Given the description of an element on the screen output the (x, y) to click on. 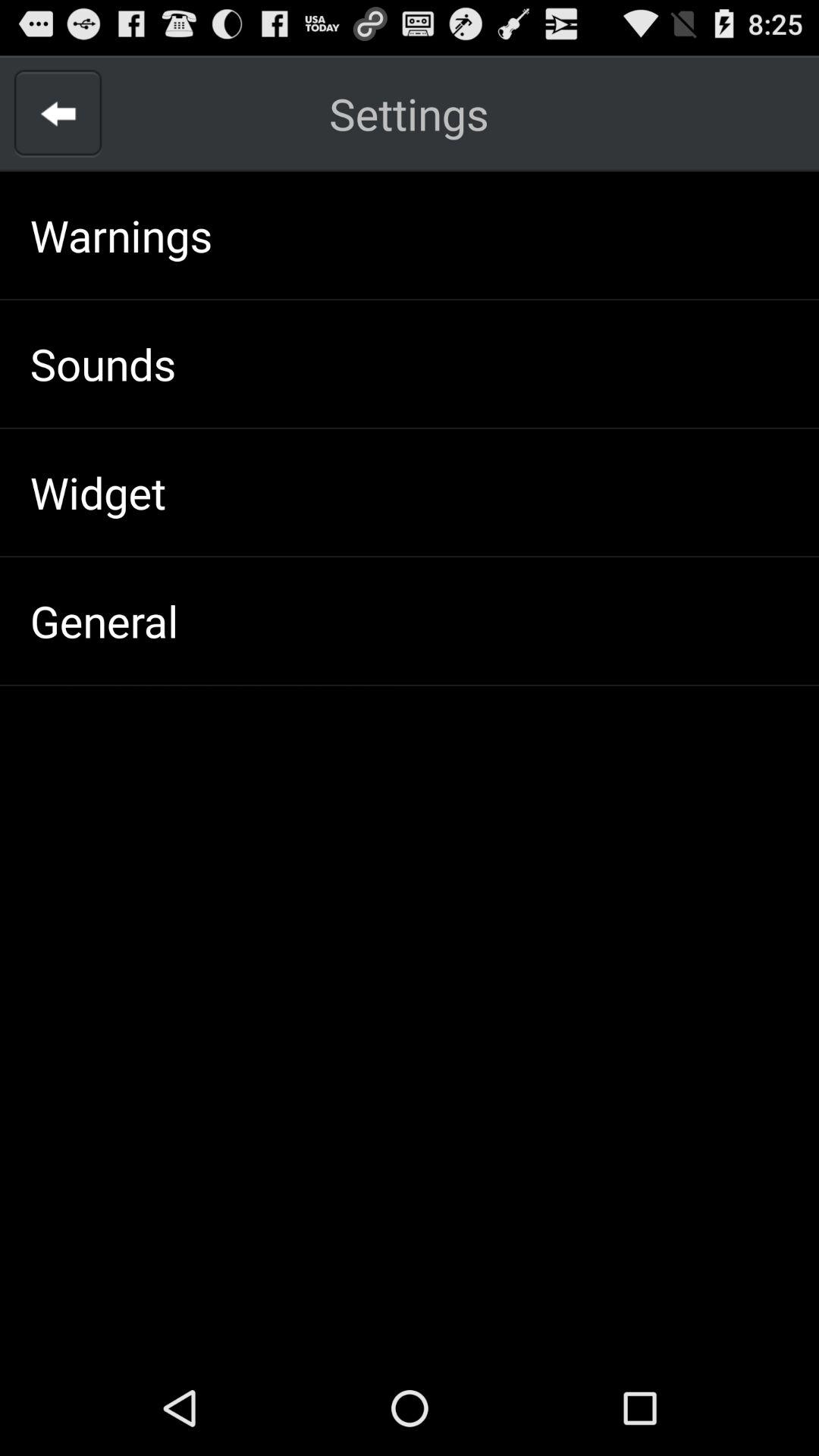
launch the icon to the left of the settings item (57, 113)
